Given the description of an element on the screen output the (x, y) to click on. 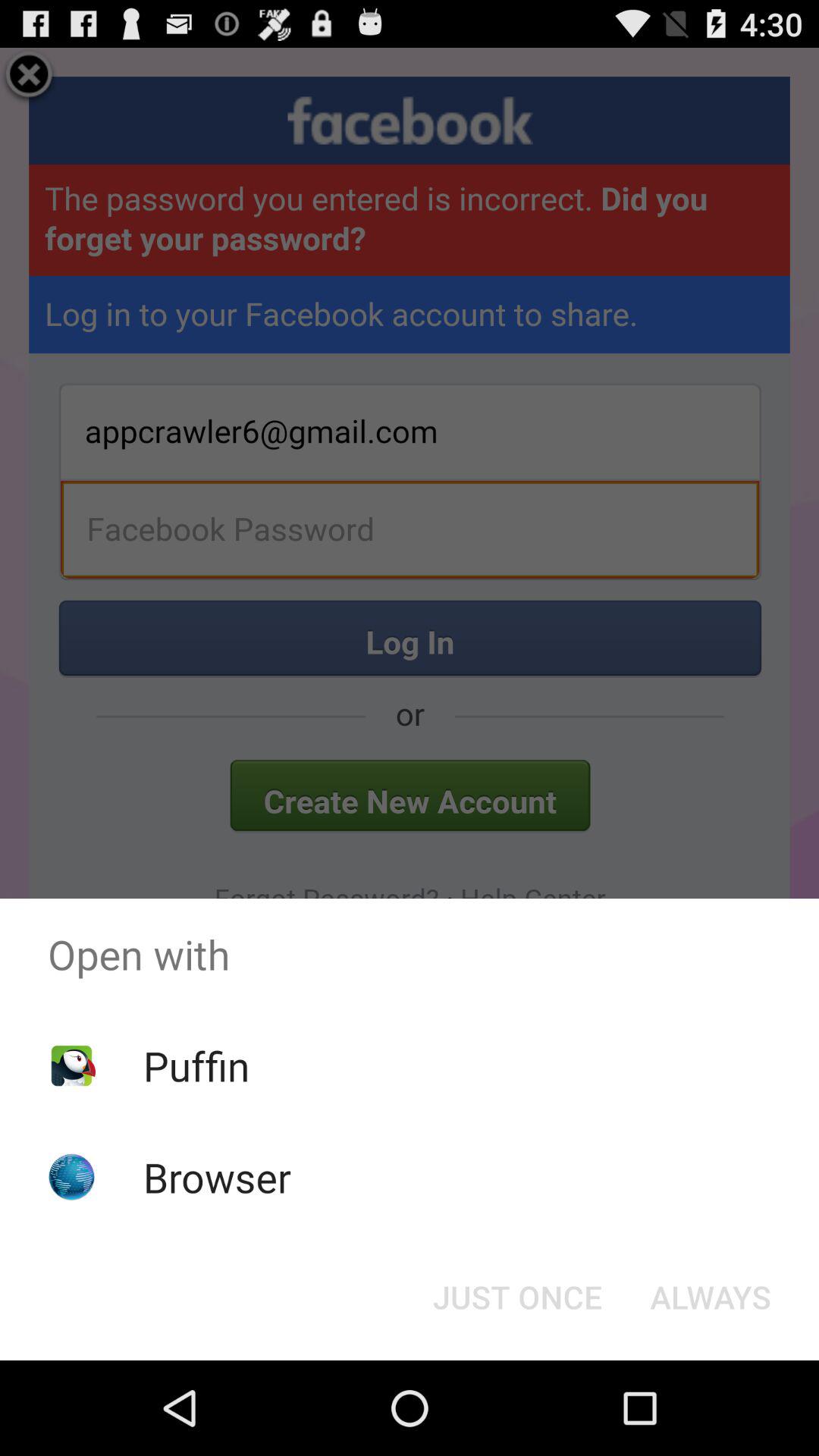
jump until the just once icon (517, 1296)
